Given the description of an element on the screen output the (x, y) to click on. 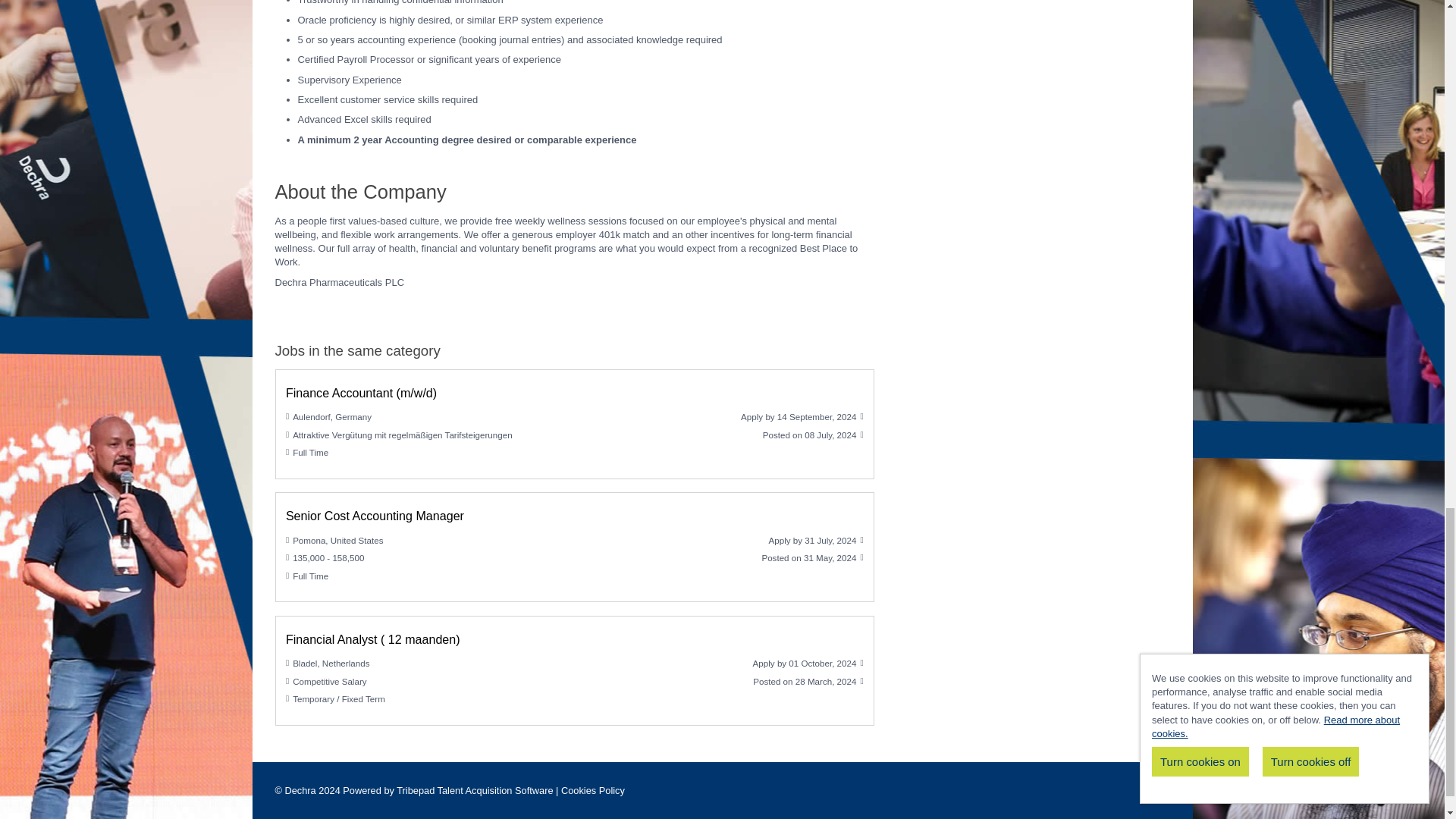
Tribepad Talent Acquisition Software (476, 790)
Cookies Policy (592, 790)
